Given the description of an element on the screen output the (x, y) to click on. 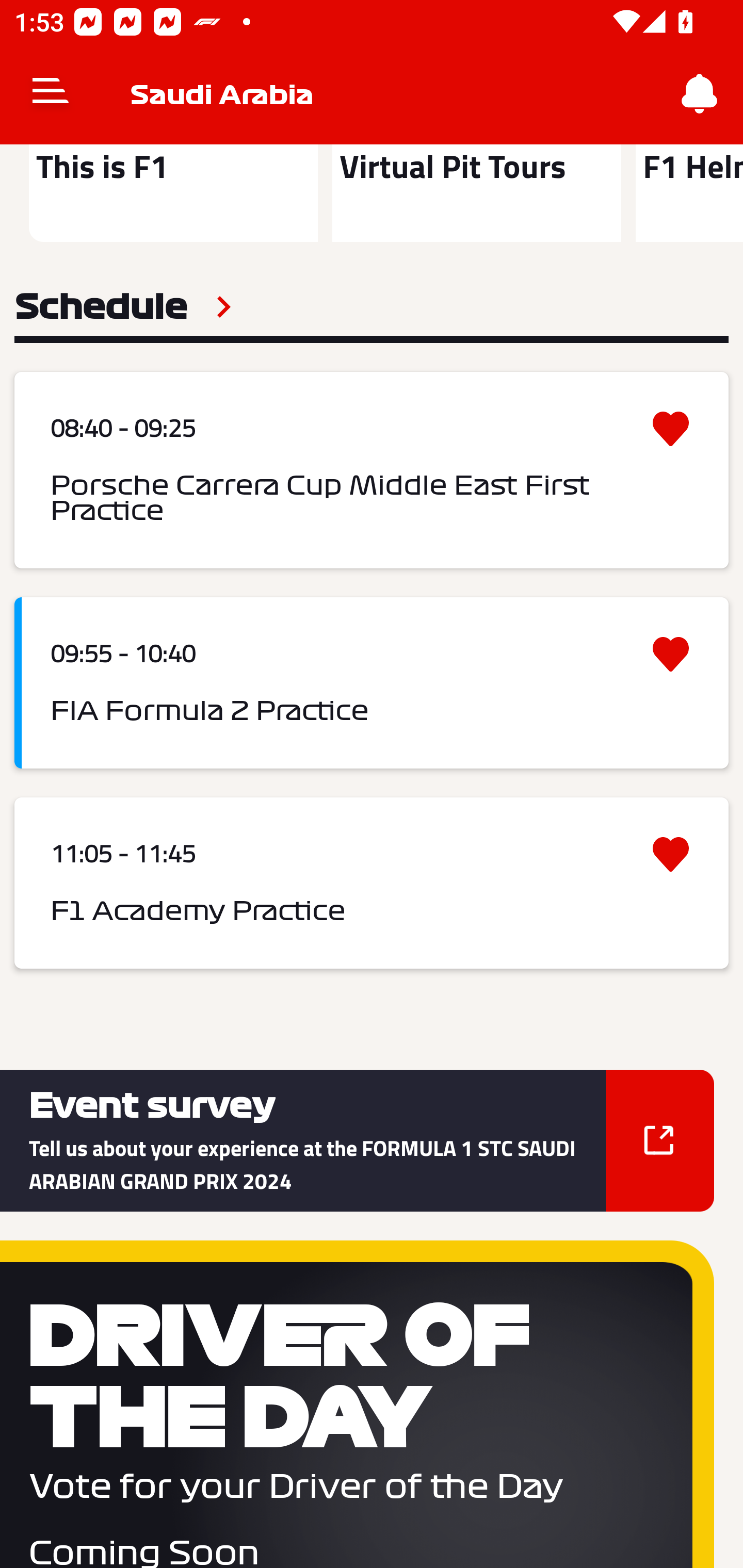
Navigate up (50, 93)
Notifications (699, 93)
This is F1 (173, 192)
Virtual Pit Tours (476, 192)
Schedule (122, 307)
09:55 - 10:40 FIA Formula 2 Practice (371, 682)
11:05 - 11:45 F1 Academy Practice (371, 883)
